Given the description of an element on the screen output the (x, y) to click on. 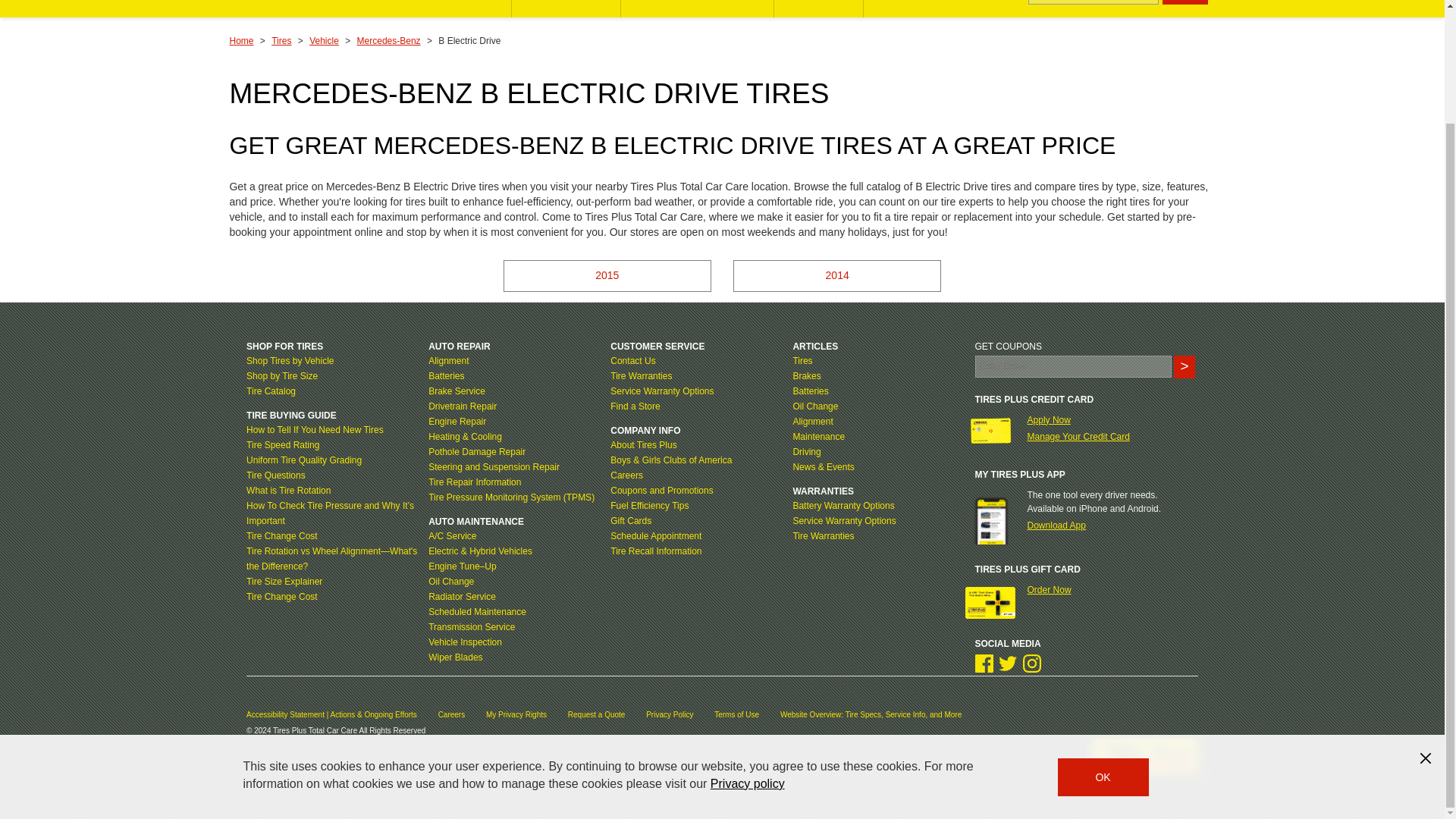
Enter Email (1073, 366)
Instagram (1032, 663)
AUTO REPAIR (566, 8)
Zip Code (1092, 2)
Facebook (983, 663)
close button (1425, 623)
Twitter (1007, 663)
Privacy policy (747, 649)
agree button (1102, 642)
TIRES (479, 8)
